Given the description of an element on the screen output the (x, y) to click on. 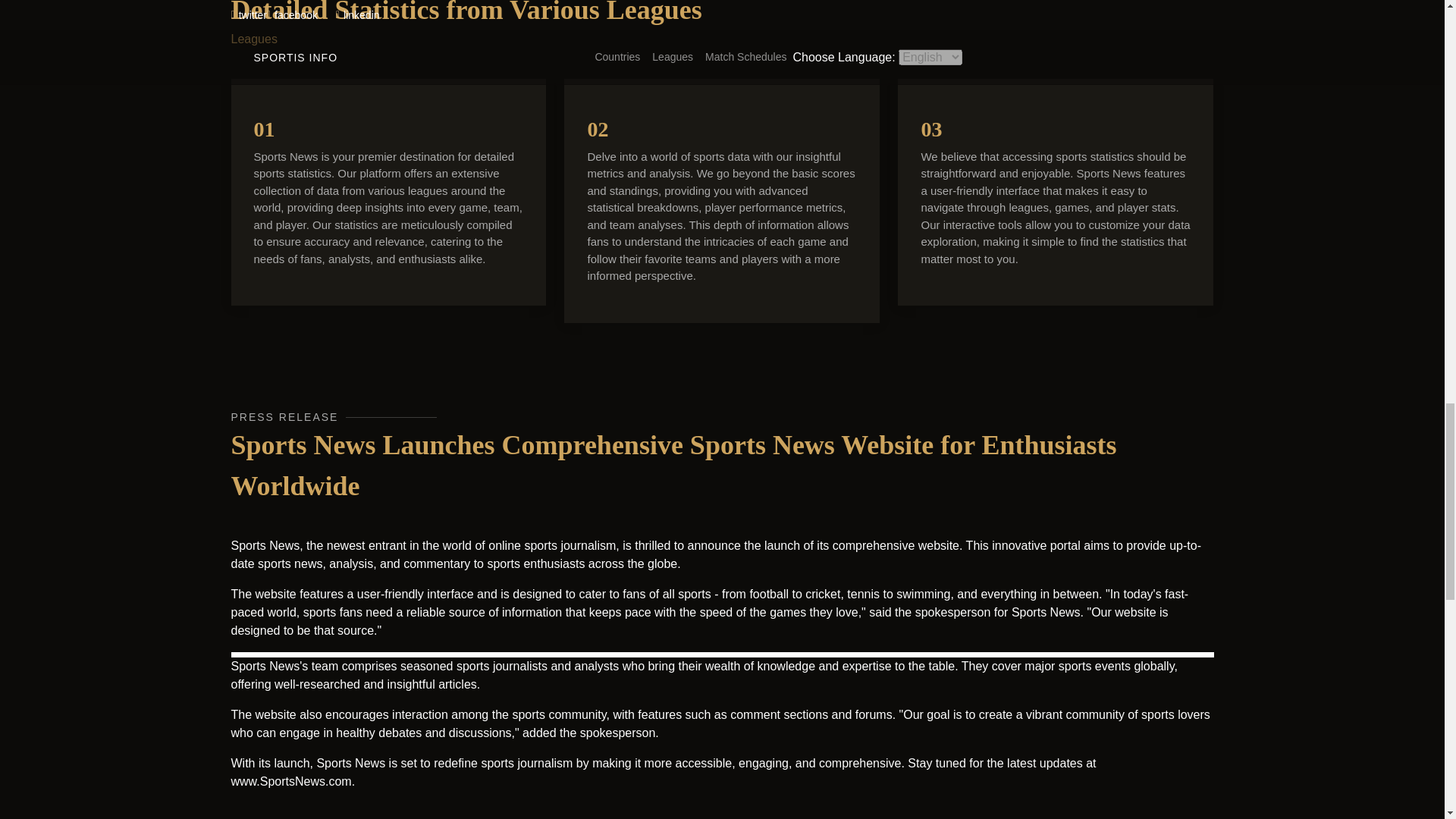
Leagues (253, 38)
Leagues (253, 38)
